Given the description of an element on the screen output the (x, y) to click on. 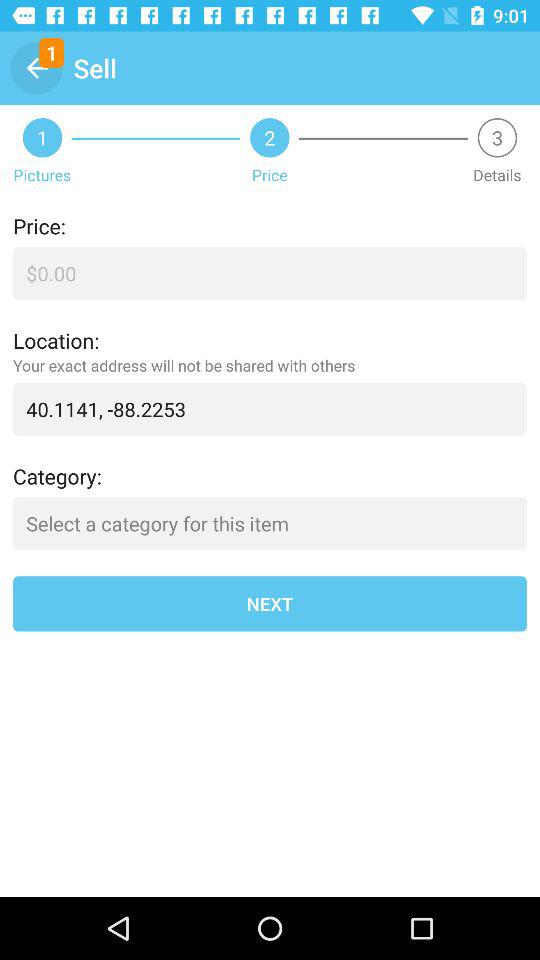
choose icon above 1 (36, 68)
